Given the description of an element on the screen output the (x, y) to click on. 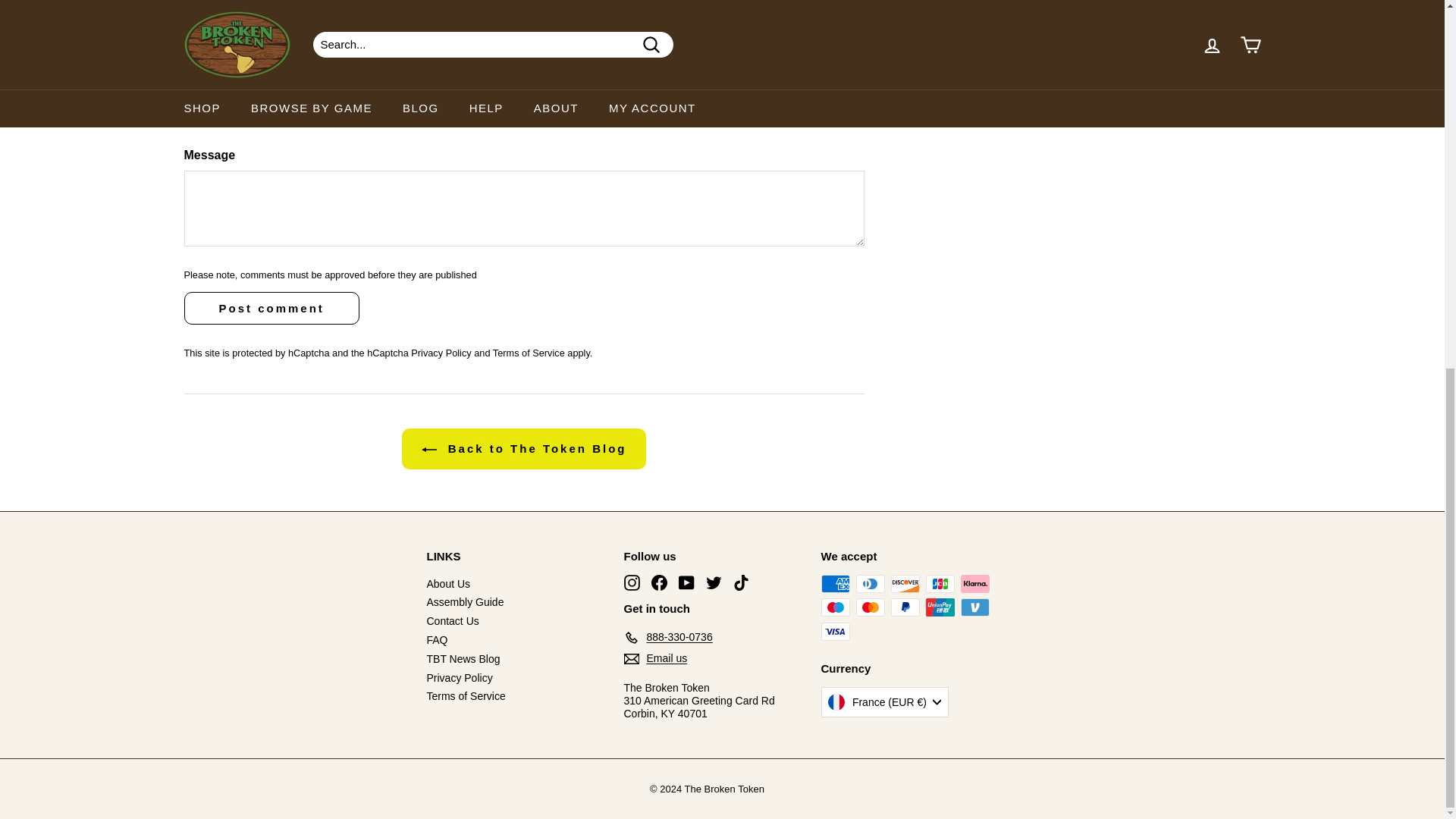
The Broken Token on Twitter (712, 582)
The Broken Token on Facebook (658, 582)
The Broken Token on Instagram (631, 582)
The Broken Token on YouTube (686, 582)
The Broken Token on TikTok (740, 582)
